Given the description of an element on the screen output the (x, y) to click on. 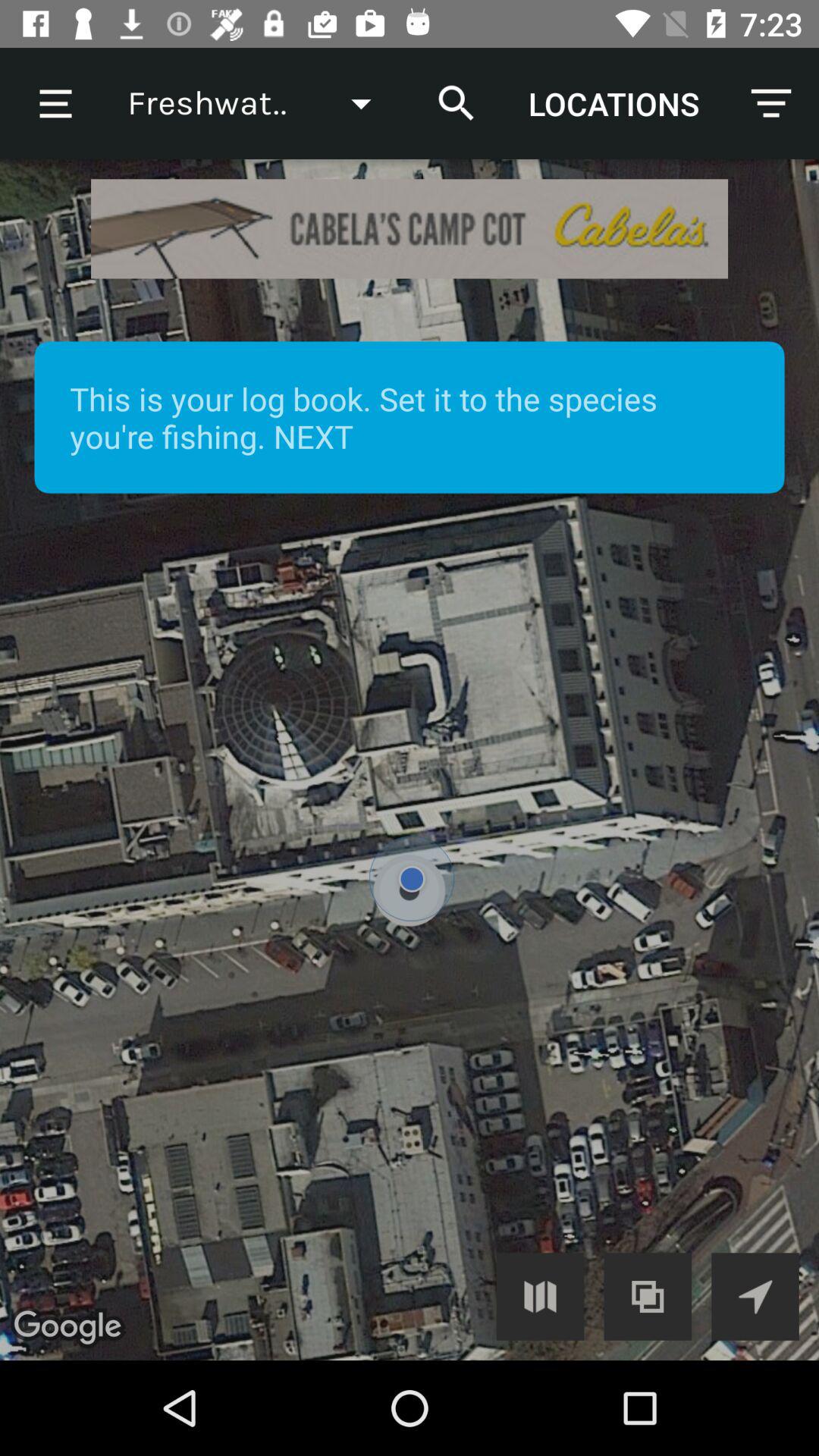
topographic map (647, 1296)
